Given the description of an element on the screen output the (x, y) to click on. 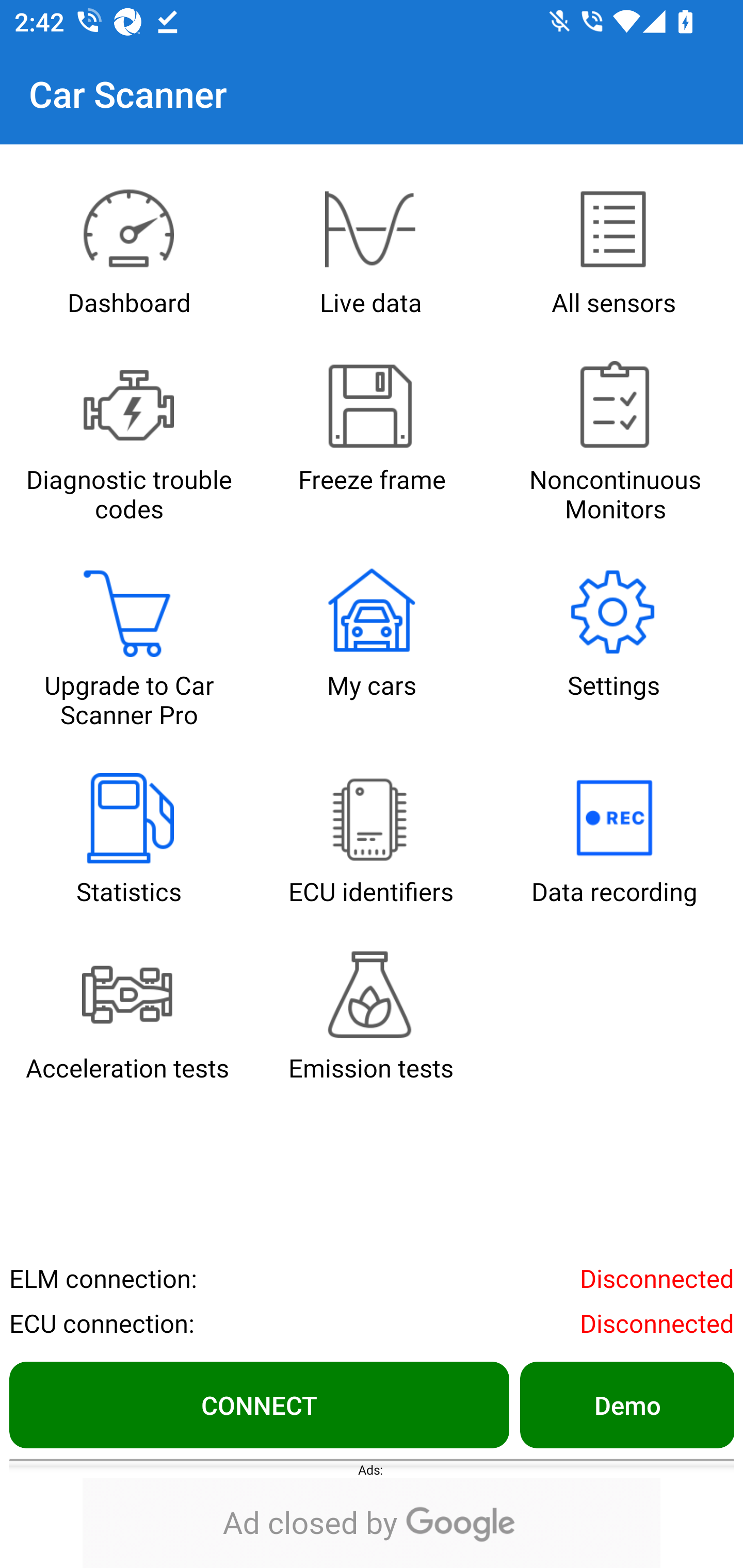
CONNECT (258, 1404)
Demo (627, 1404)
